Given the description of an element on the screen output the (x, y) to click on. 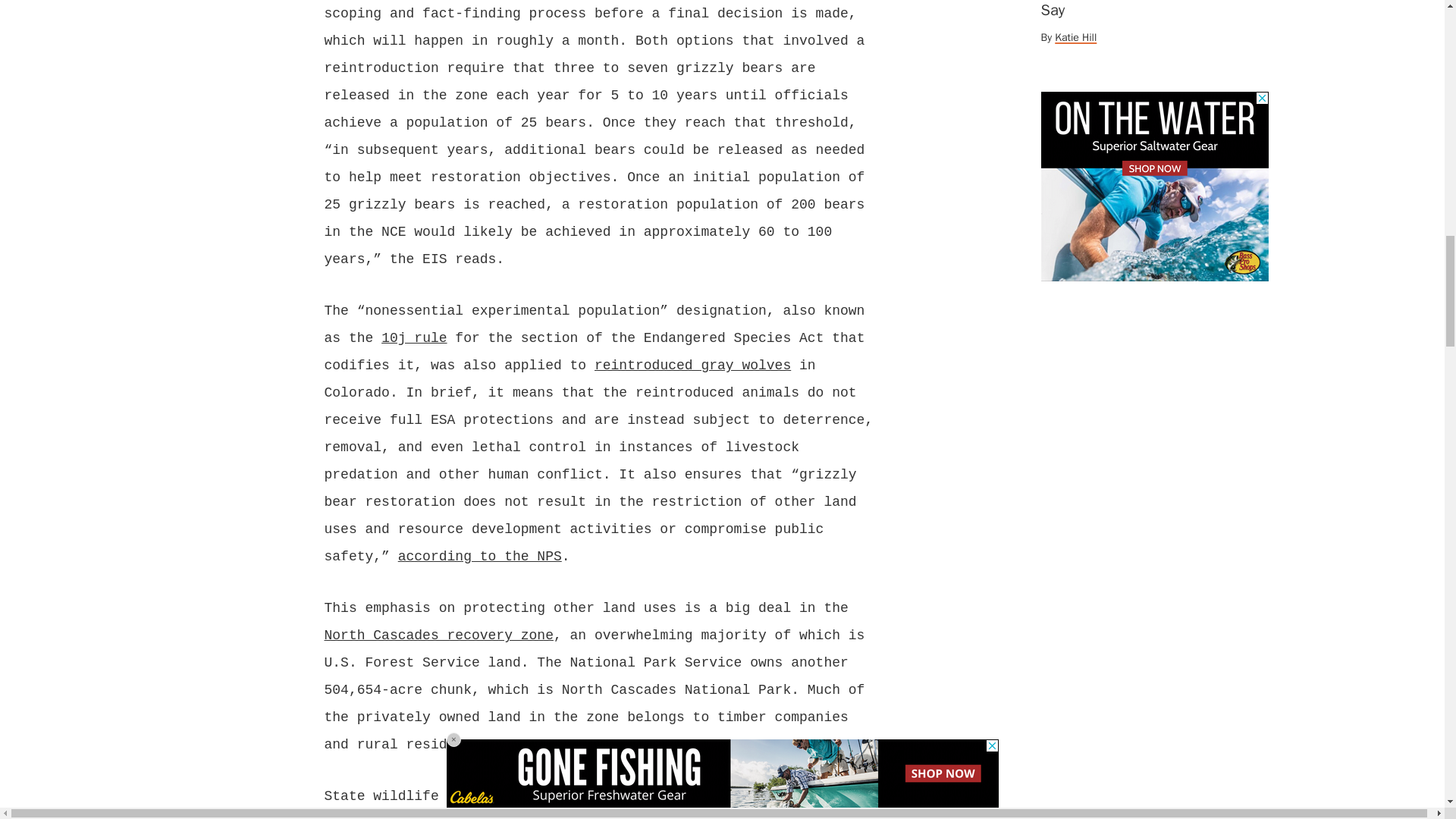
3rd party ad content (1154, 186)
